Given the description of an element on the screen output the (x, y) to click on. 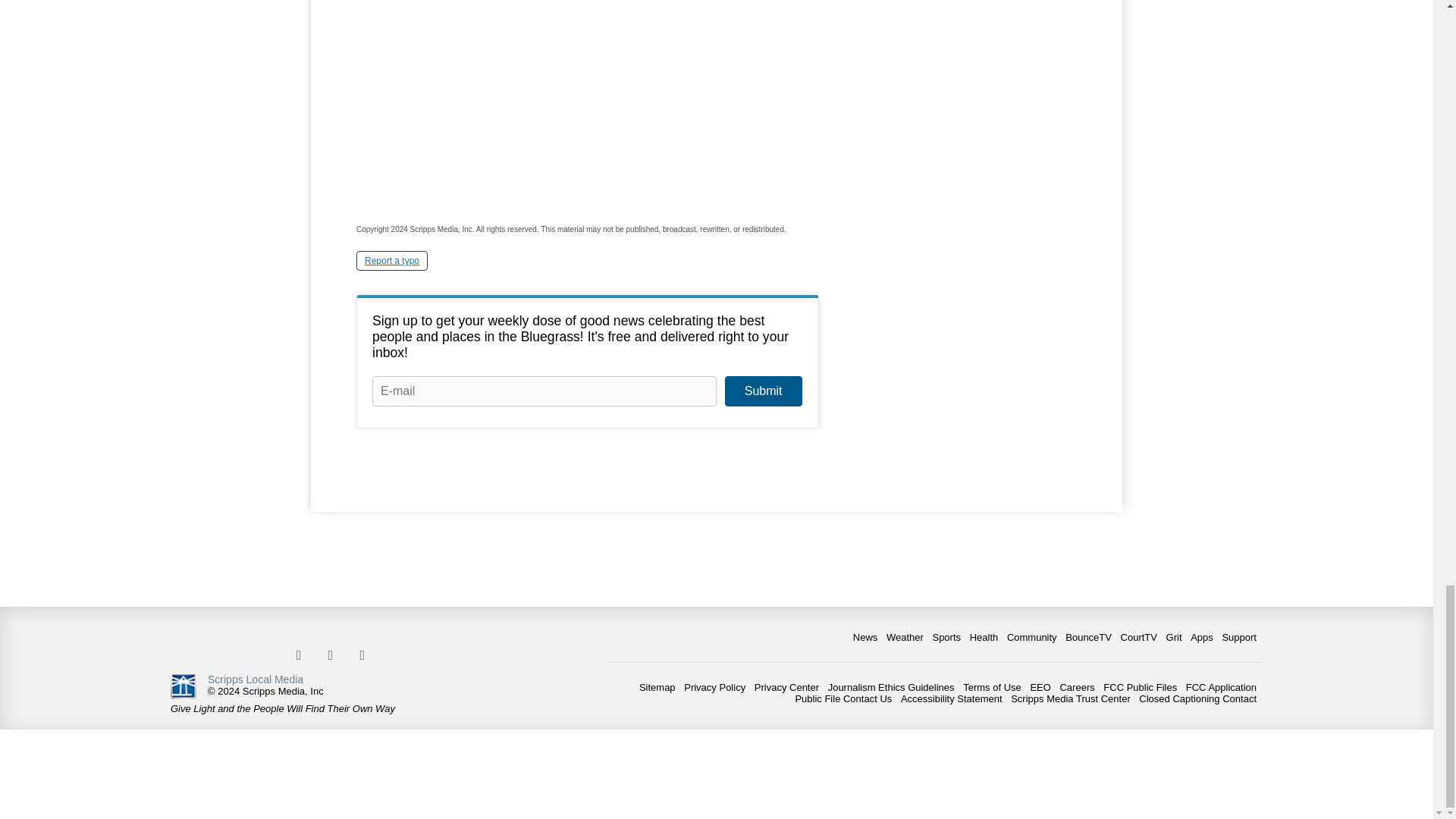
Submit (763, 390)
